Given the description of an element on the screen output the (x, y) to click on. 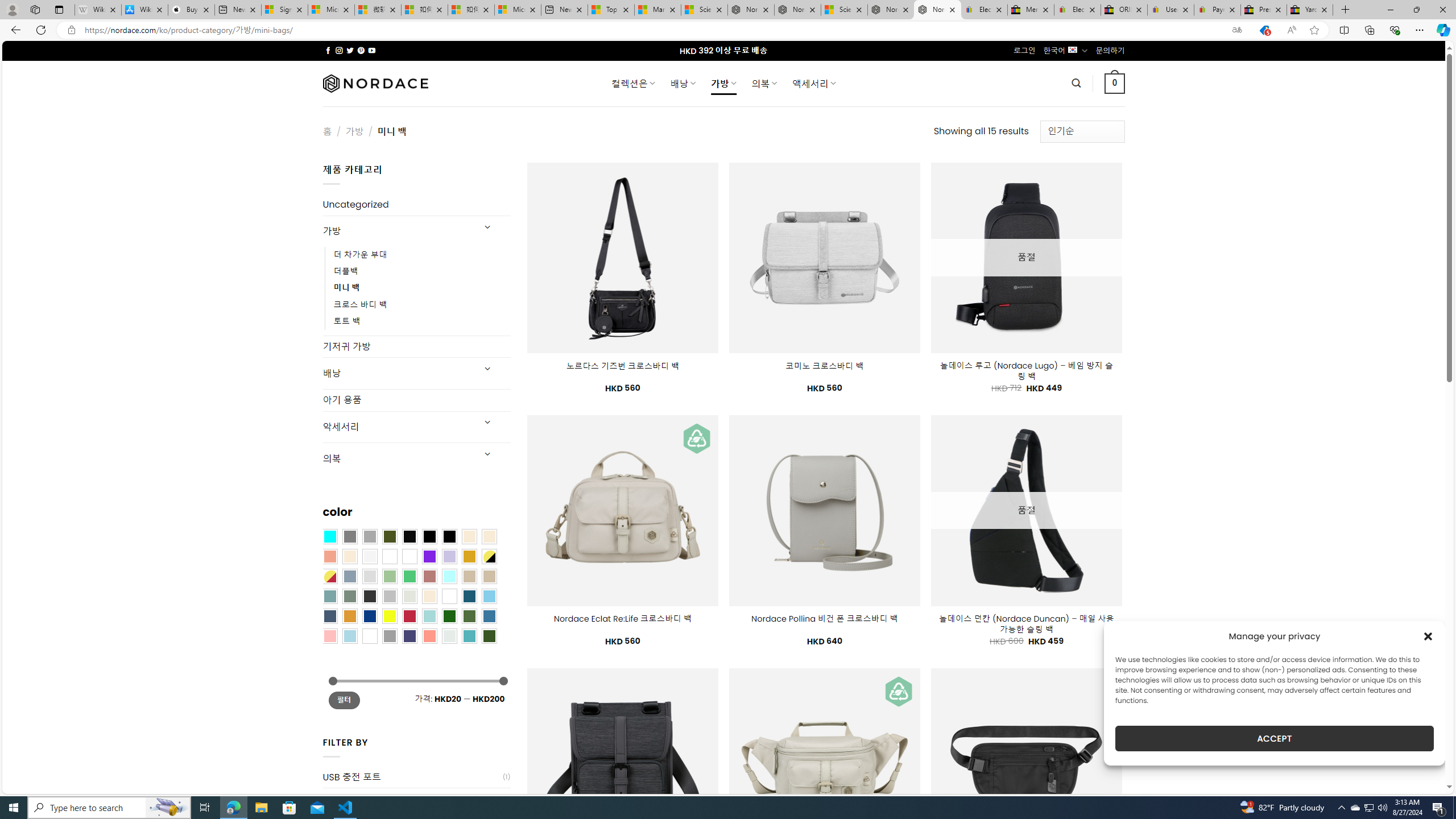
Microsoft account | Account Checkup (517, 9)
Nordace - Summer Adventures 2024 (890, 9)
